Given the description of an element on the screen output the (x, y) to click on. 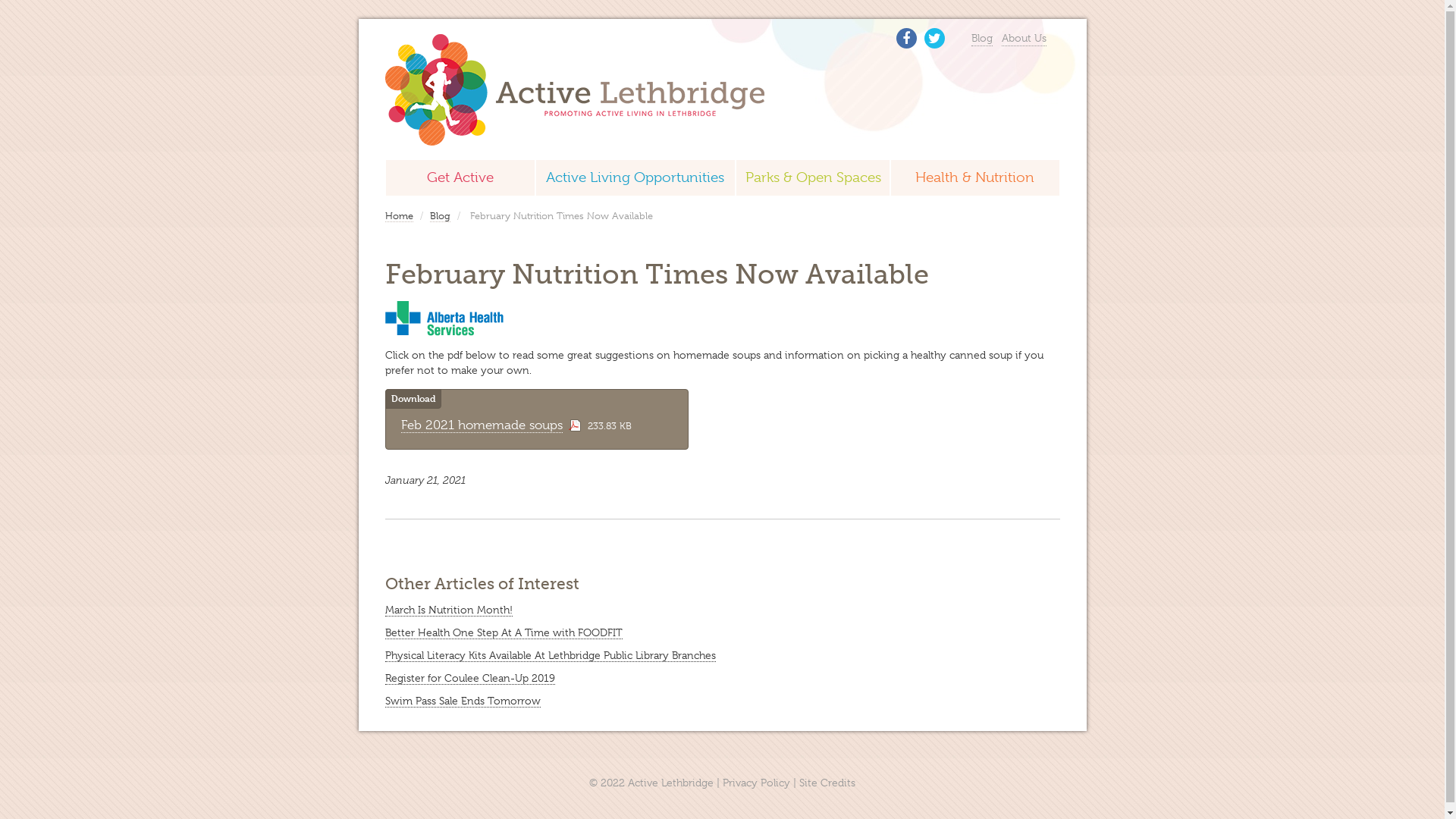
Privacy Policy Element type: text (756, 782)
Site Credits Element type: text (827, 782)
Better Health One Step At A Time with FOODFIT Element type: text (503, 632)
Blog Element type: text (439, 216)
Register for Coulee Clean-Up 2019 Element type: text (470, 677)
March Is Nutrition Month! Element type: text (448, 609)
Blog Element type: text (981, 38)
About Us Element type: text (1023, 38)
Health & Nutrition Element type: text (974, 177)
Feb 2021 homemade soups Element type: text (480, 425)
Active Living Opportunities Element type: text (634, 177)
Get Active Element type: text (459, 177)
Swim Pass Sale Ends Tomorrow Element type: text (462, 700)
Parks & Open Spaces Element type: text (813, 177)
Follow us on Twitter Element type: hover (934, 38)
Find us on Facebook Element type: hover (906, 38)
Home Element type: text (399, 216)
